Given the description of an element on the screen output the (x, y) to click on. 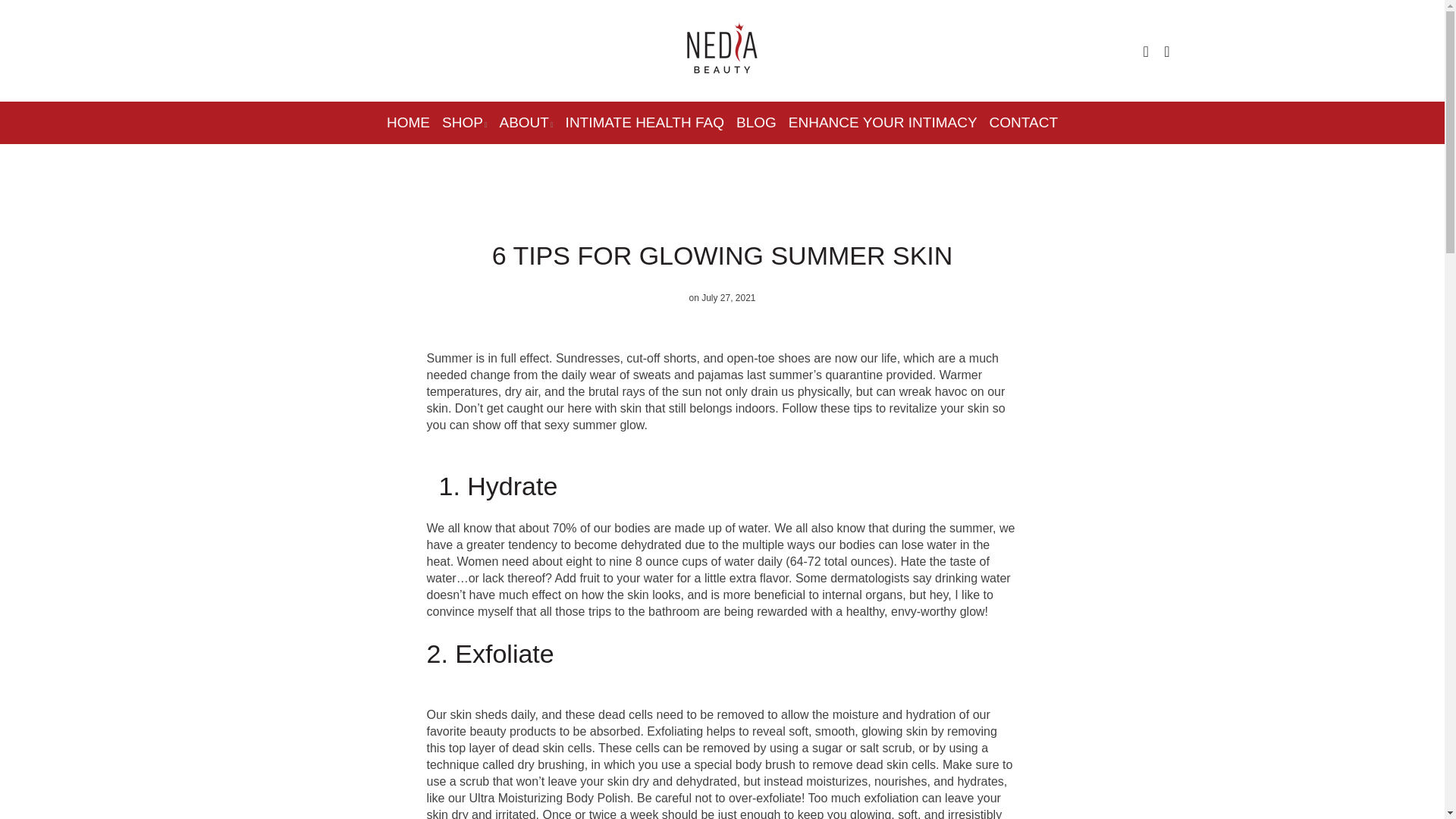
CONTACT (1021, 122)
ABOUT (526, 122)
SHOP (464, 122)
ENHANCE YOUR INTIMACY (883, 122)
HOME (406, 122)
INTIMATE HEALTH FAQ (644, 122)
BLOG (756, 122)
